Given the description of an element on the screen output the (x, y) to click on. 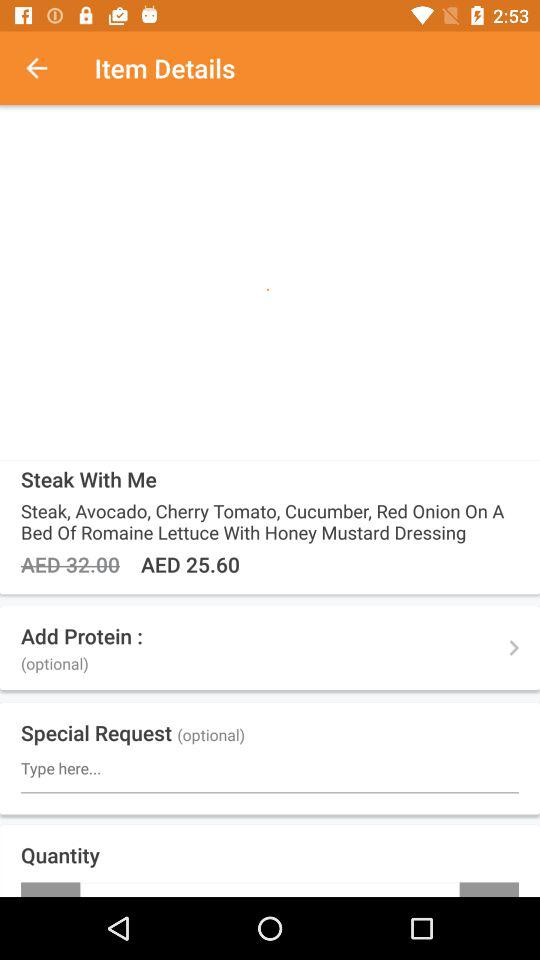
go back (47, 68)
